Given the description of an element on the screen output the (x, y) to click on. 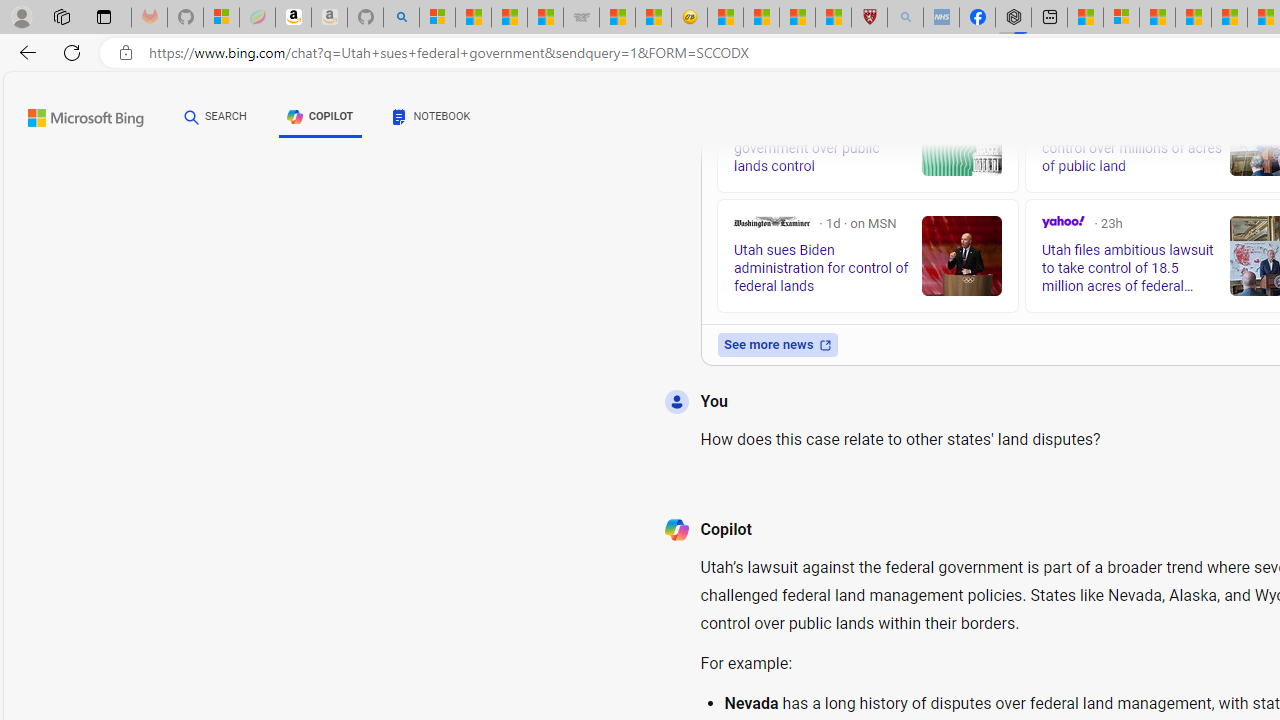
See more news (777, 344)
Washington Examiner on MSN.com (771, 222)
COPILOT (319, 116)
COPILOT (319, 120)
